Given the description of an element on the screen output the (x, y) to click on. 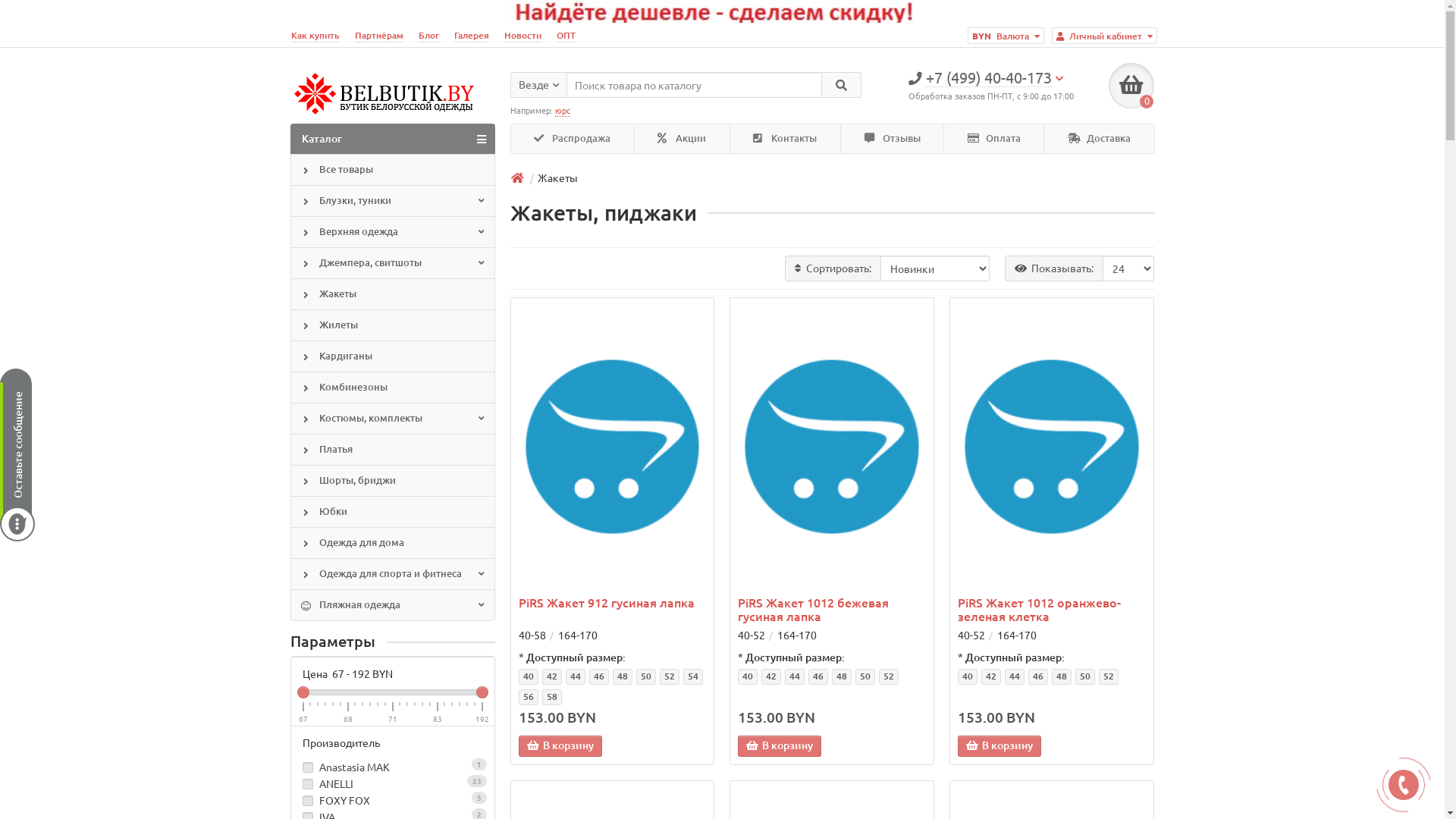
Belbutik.by Element type: hover (386, 93)
0 Element type: text (1131, 85)
